Given the description of an element on the screen output the (x, y) to click on. 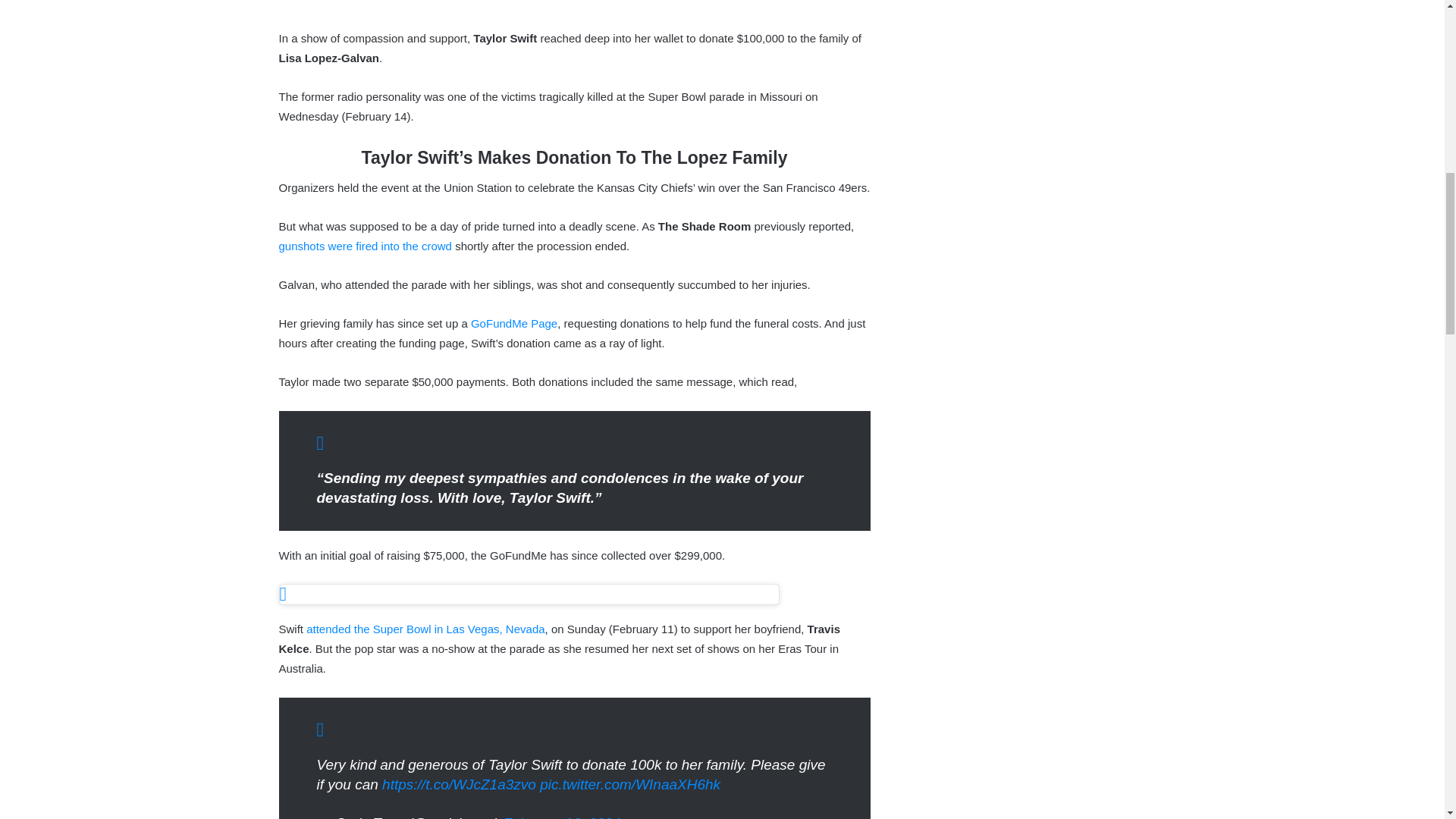
attended the Super Bowl in Las Vegas, Nevada (424, 628)
gunshots were fired into the crowd (365, 245)
GoFundMe Page (513, 323)
February 16, 2024 (561, 816)
